Given the description of an element on the screen output the (x, y) to click on. 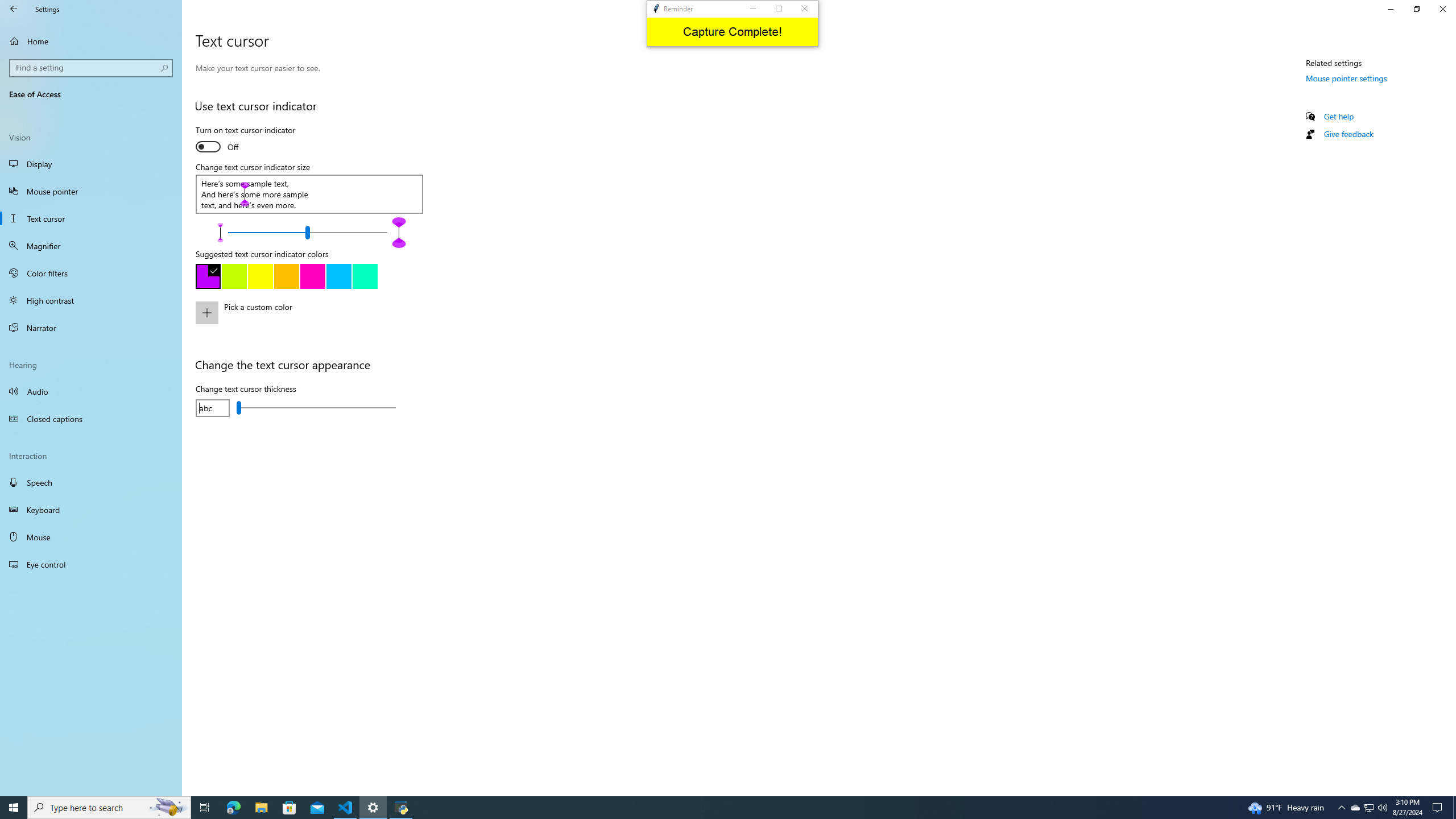
Q2790: 100% (1382, 807)
Display (91, 163)
Start (13, 807)
Notification Chevron (1341, 807)
Narrator (91, 327)
Home (91, 40)
Keyboard (91, 509)
Purple (208, 276)
Pink (311, 276)
Green (364, 276)
Minimize Settings (1390, 9)
Lime (234, 276)
Mouse (91, 536)
Close Settings (1442, 9)
